Given the description of an element on the screen output the (x, y) to click on. 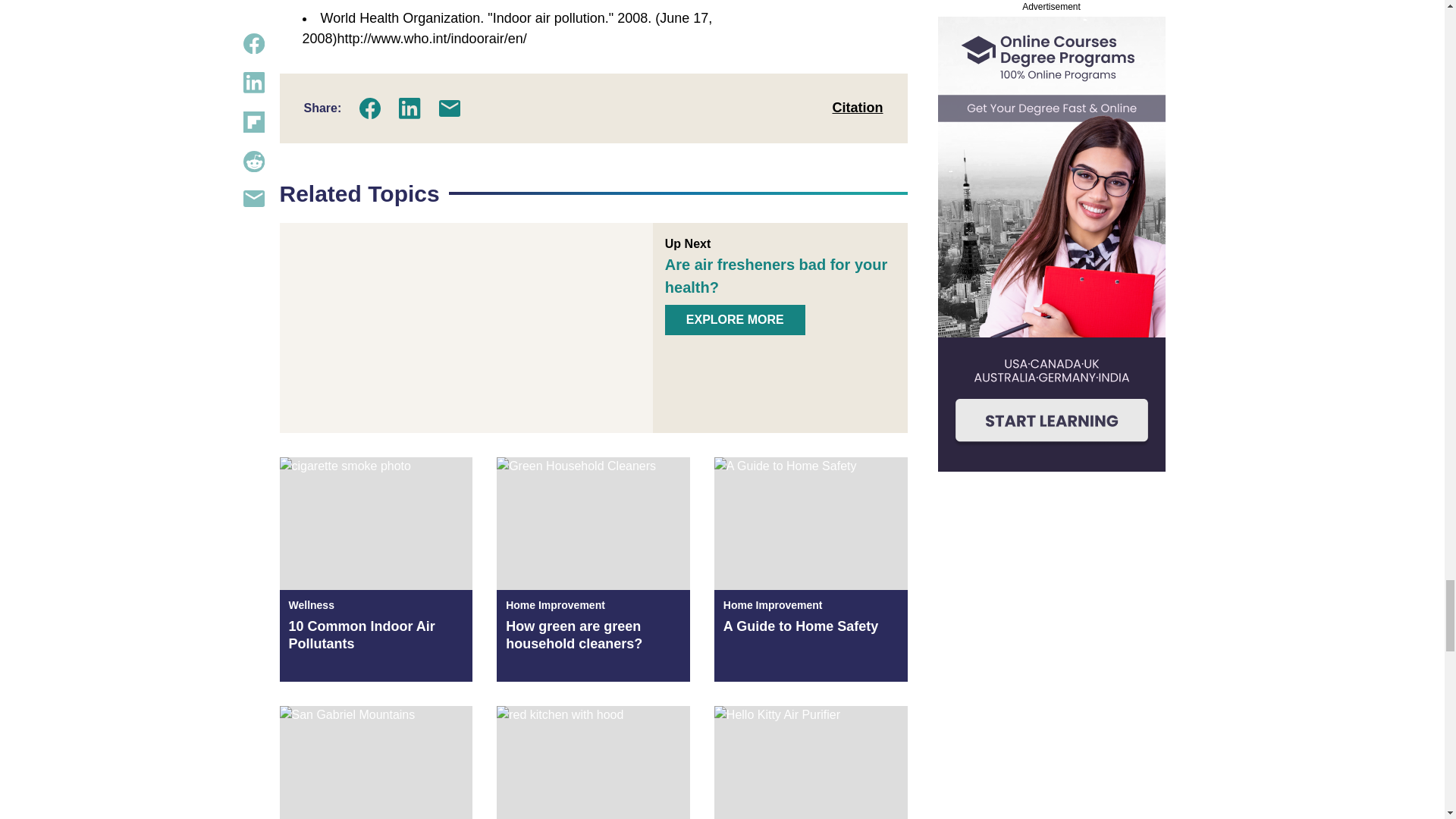
Share Content via Email (449, 108)
Share Content on LinkedIn (409, 107)
Share Content on Facebook (369, 107)
